Given the description of an element on the screen output the (x, y) to click on. 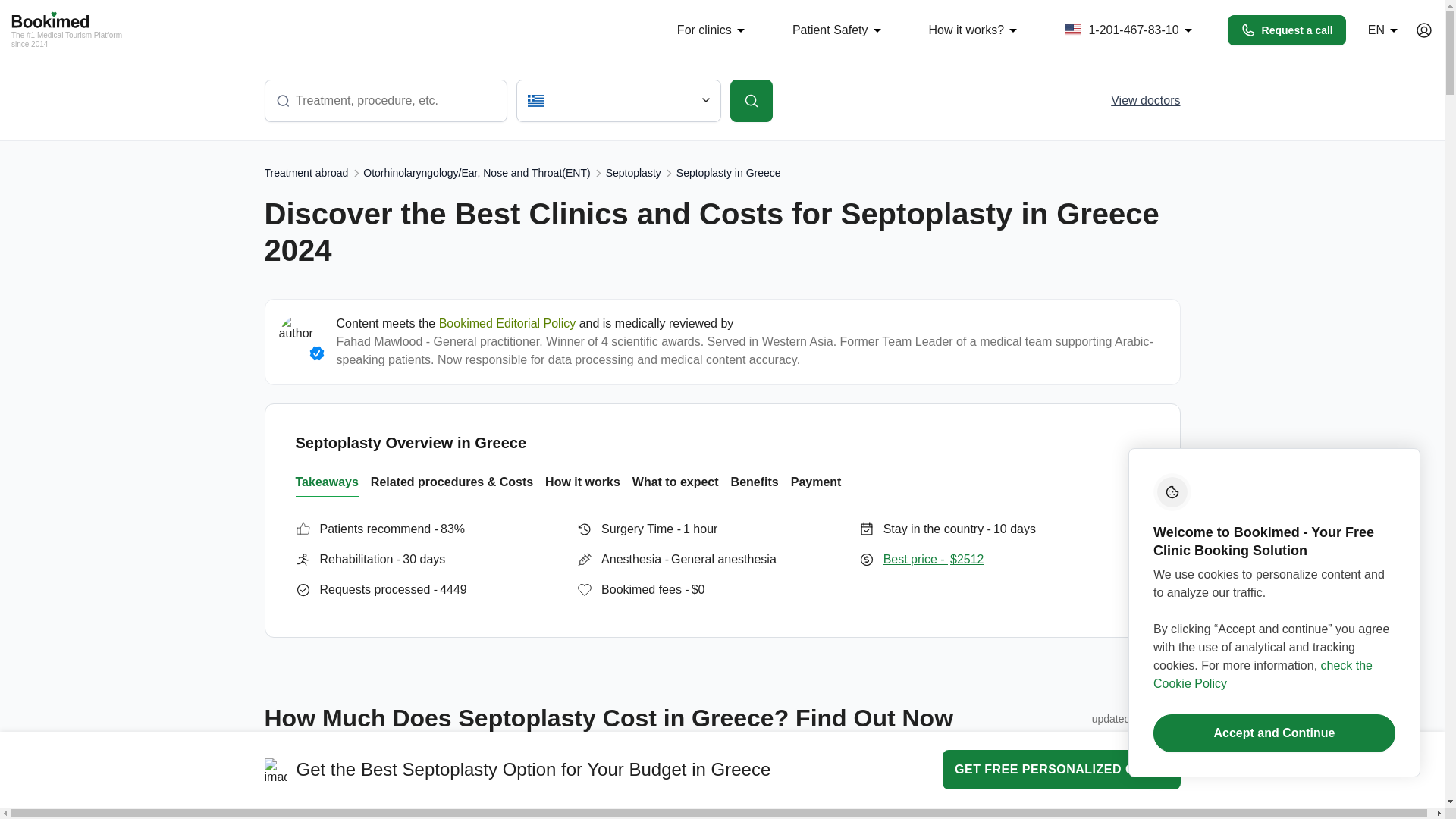
Fahad Mawlood (381, 341)
Accept and Continue (1273, 733)
check the Cookie Policy (1263, 674)
View doctors (1144, 100)
Bookimed Editorial Policy (507, 323)
Septoplasty (633, 172)
1-201-467-83-10 (1130, 30)
Treatment abroad (305, 172)
How it works? (974, 30)
Request a call (1286, 30)
